Given the description of an element on the screen output the (x, y) to click on. 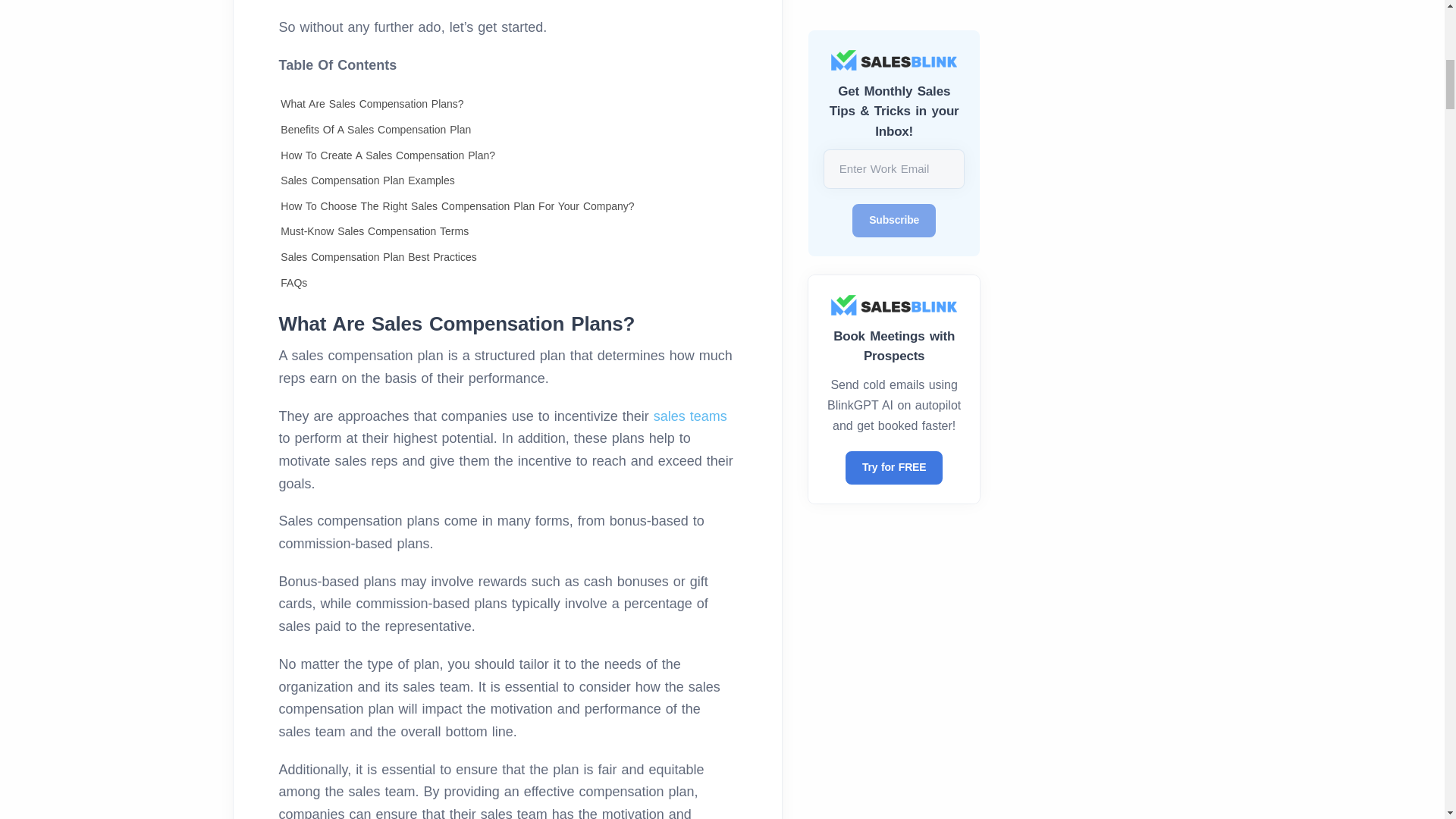
Sales Compensation Plan Best Practices (378, 256)
Must-Know Sales Compensation Terms (374, 231)
Benefits Of A Sales Compensation Plan (375, 129)
What Are Sales Compensation Plans? (372, 103)
How To Create A Sales Compensation Plan? (388, 155)
Sales Compensation Plan Examples (367, 180)
sales teams (689, 416)
FAQs (294, 282)
